Given the description of an element on the screen output the (x, y) to click on. 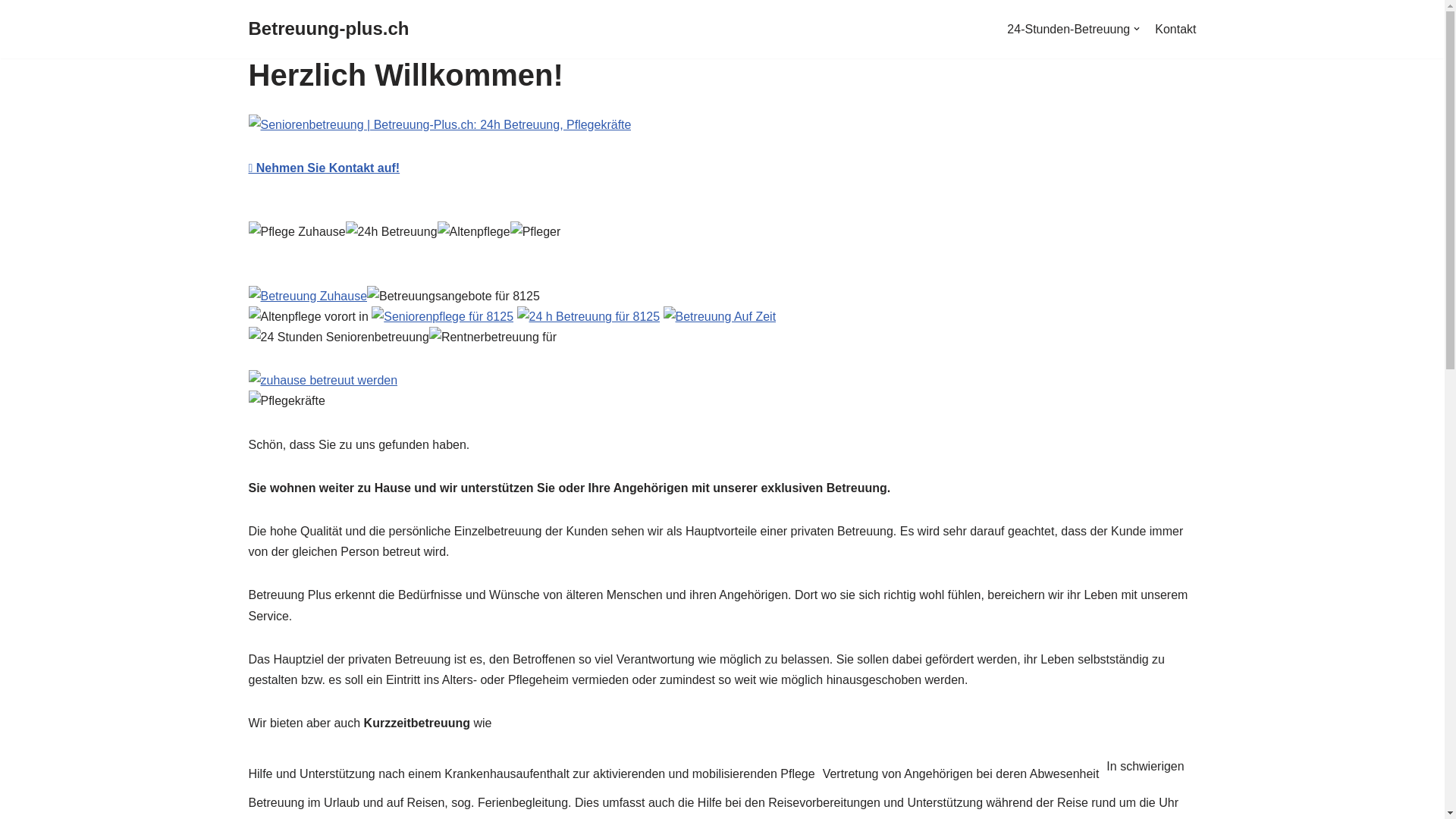
Kontakt Element type: text (1174, 29)
24-Stunden-Betreuung Element type: text (1073, 29)
Betreuung-plus.ch Element type: text (328, 28)
Zum Inhalt springen Element type: text (11, 31)
